Given the description of an element on the screen output the (x, y) to click on. 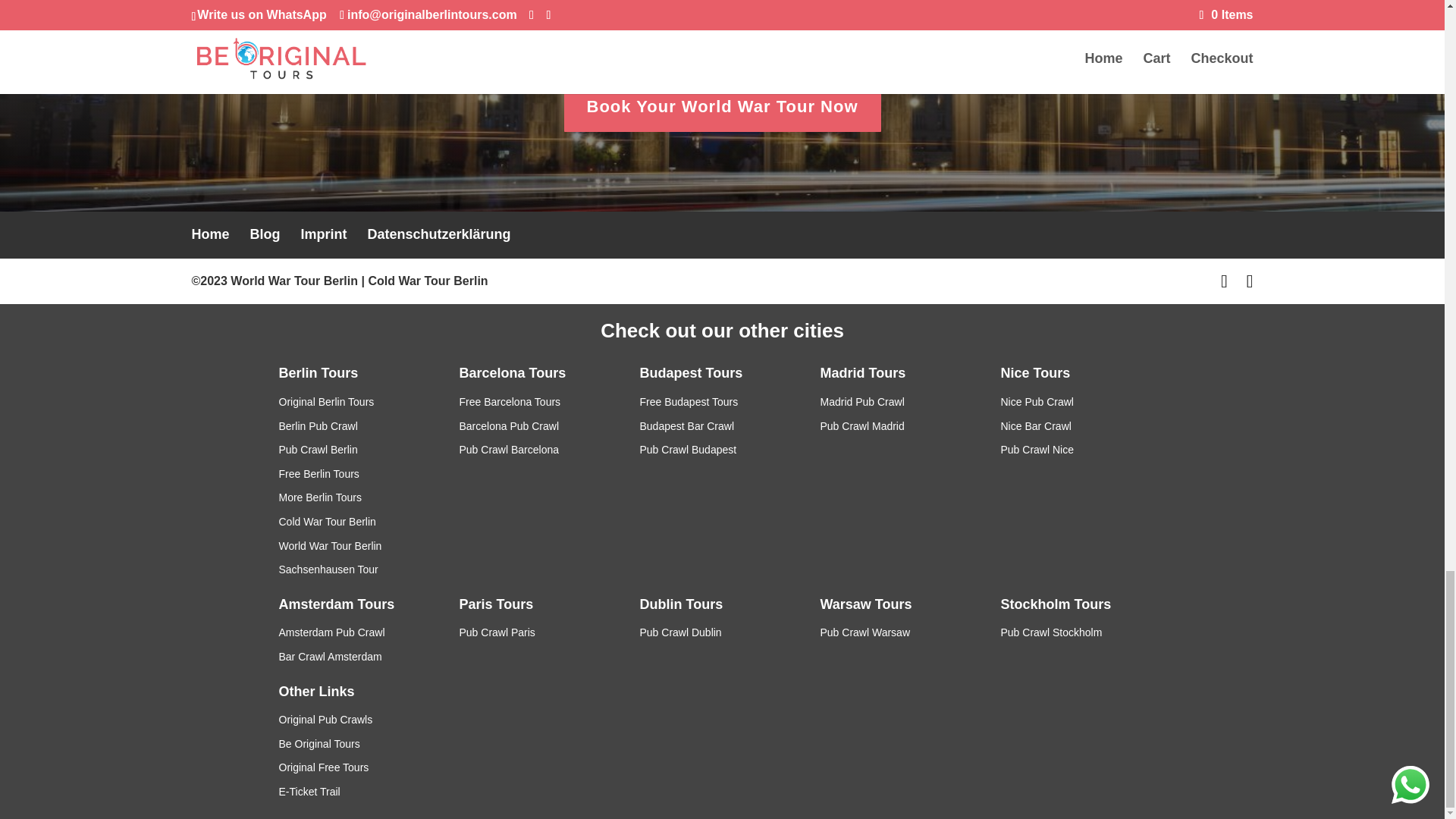
Free Berlin Tours (319, 473)
Free Barcelona Tours (510, 401)
Berlin Pub Crawl (318, 426)
Book Your World War Tour Now (722, 106)
More Berlin Tours (320, 497)
Barcelona Pub Crawl (509, 426)
Sachsenhausen Tour (328, 569)
World War Tour Berlin (330, 545)
Cold War Tour Berlin (327, 521)
Cold War Tour Berlin (427, 280)
